Given the description of an element on the screen output the (x, y) to click on. 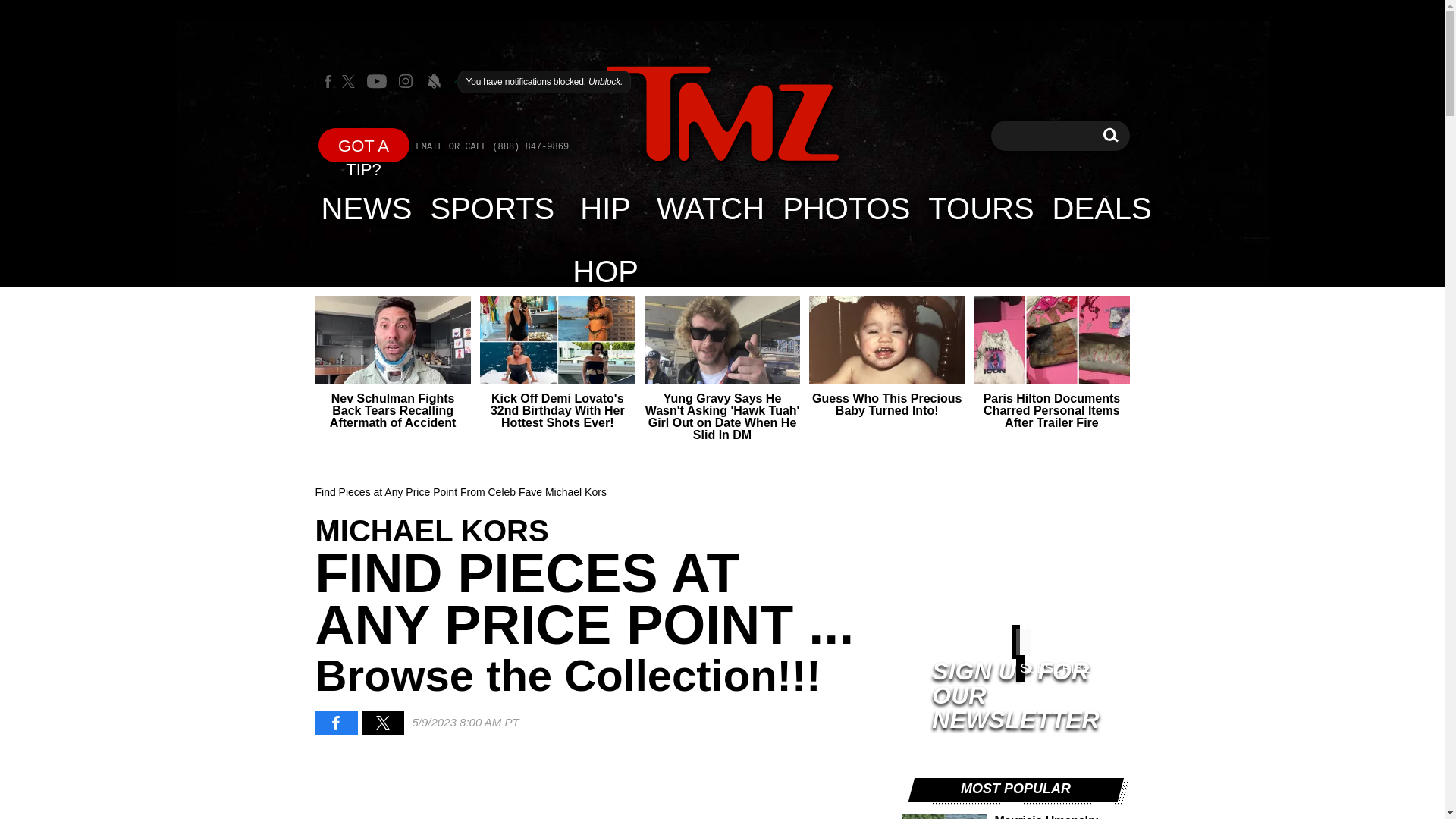
Search (1110, 134)
TOURS (980, 207)
NEWS (367, 207)
TMZ (722, 115)
WATCH (1110, 135)
SPORTS (710, 207)
Skip to main content (493, 207)
HIP HOP (722, 113)
